Given the description of an element on the screen output the (x, y) to click on. 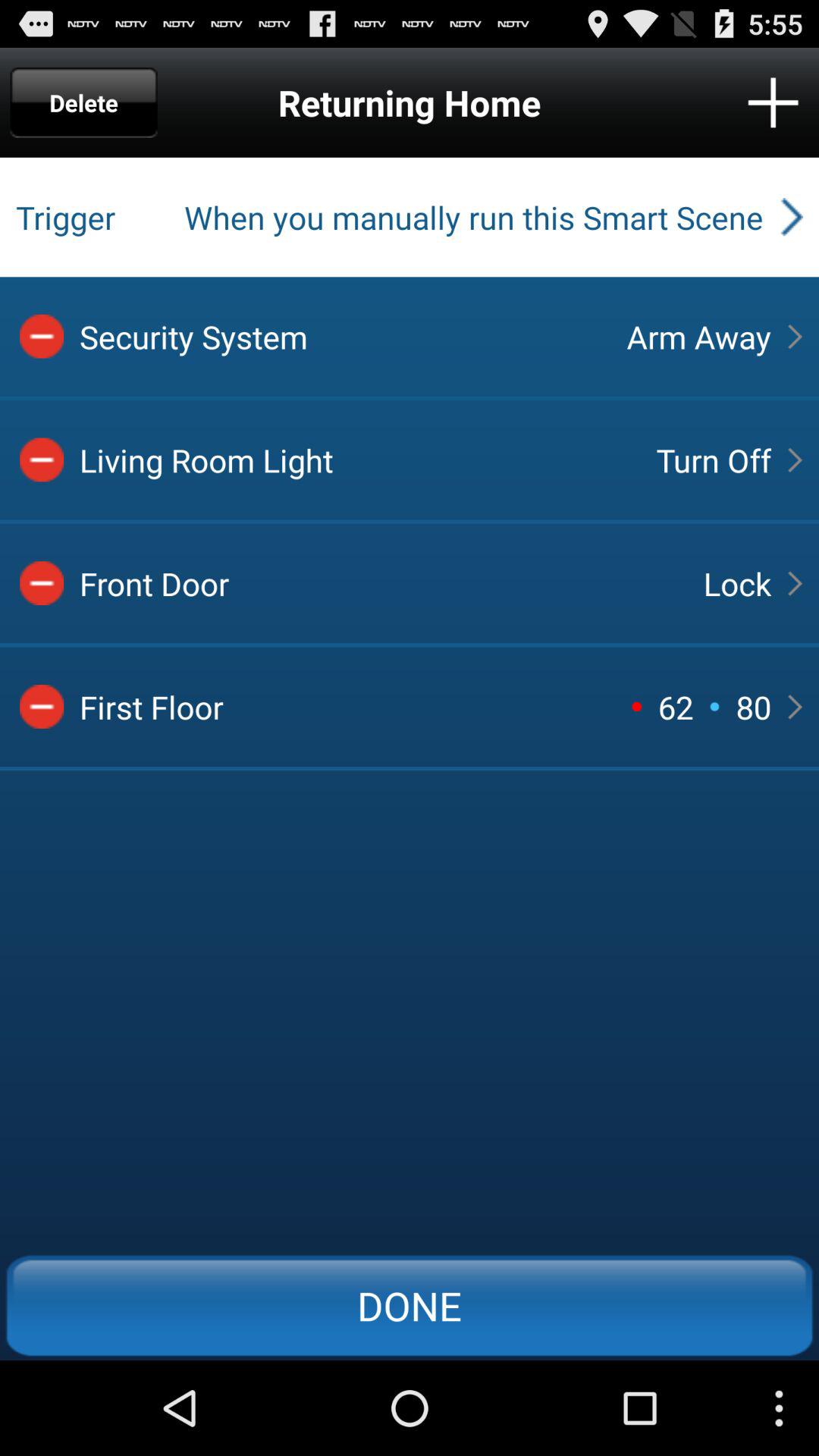
turn on 62 item (675, 706)
